Given the description of an element on the screen output the (x, y) to click on. 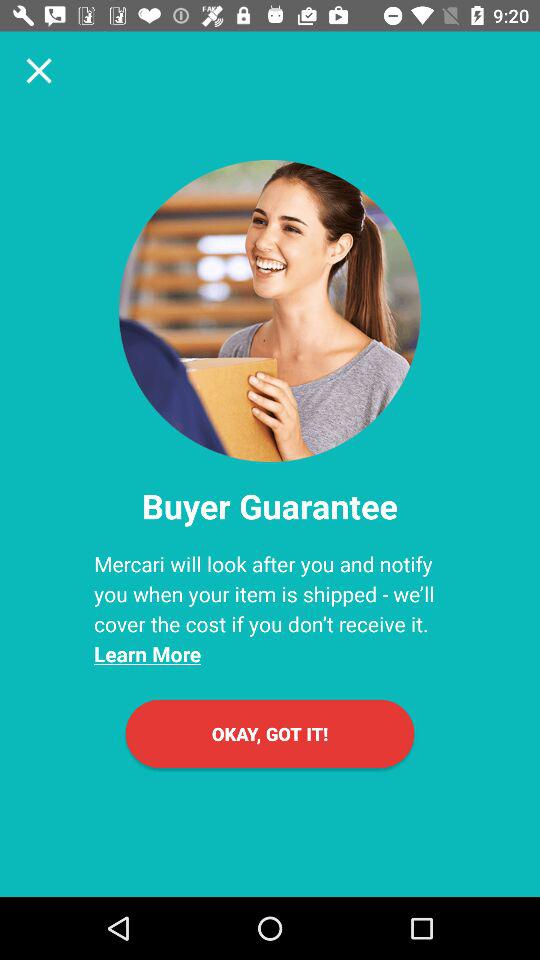
tap item at the top left corner (39, 70)
